Given the description of an element on the screen output the (x, y) to click on. 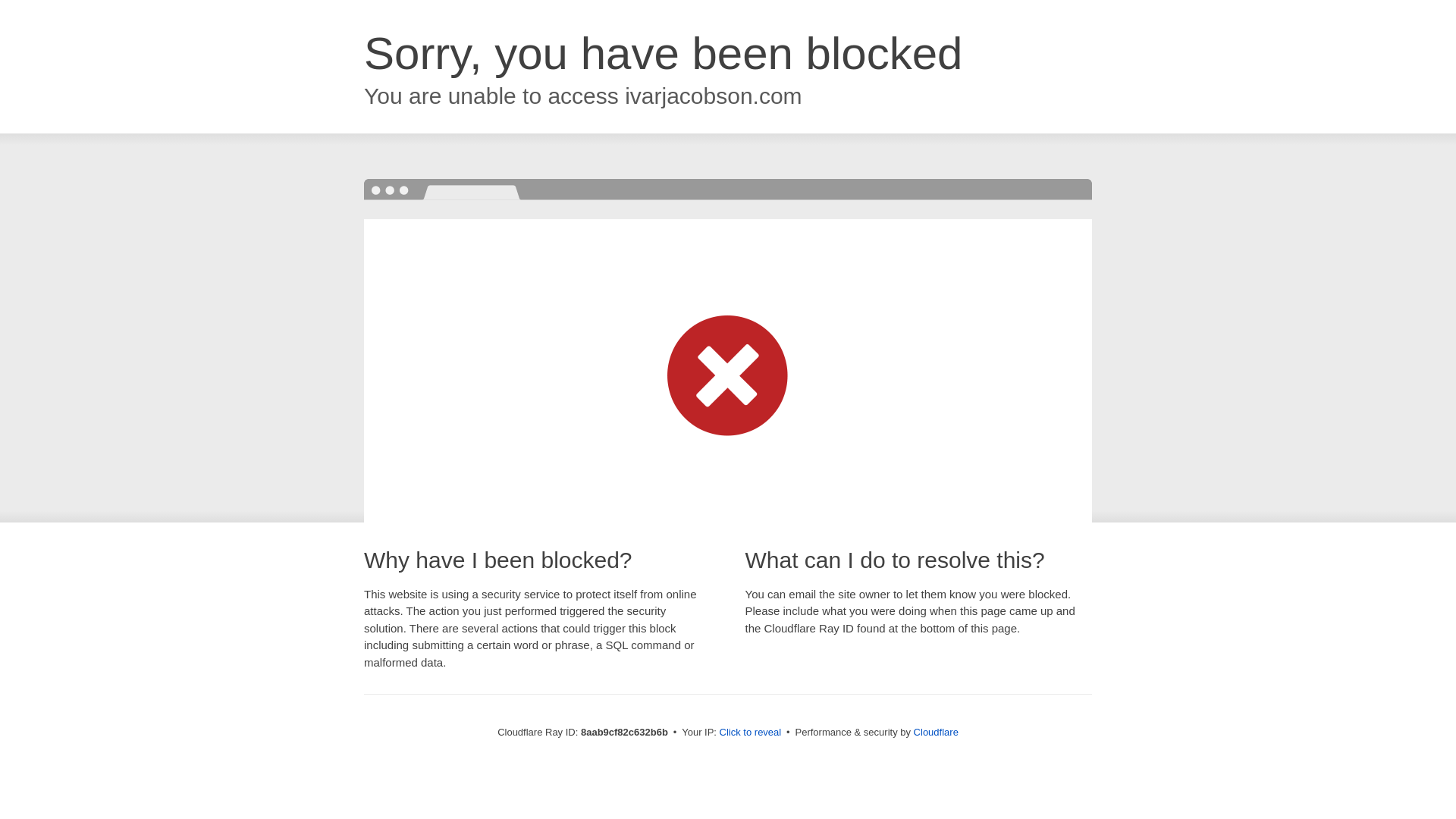
Click to reveal (750, 732)
Cloudflare (936, 731)
